Given the description of an element on the screen output the (x, y) to click on. 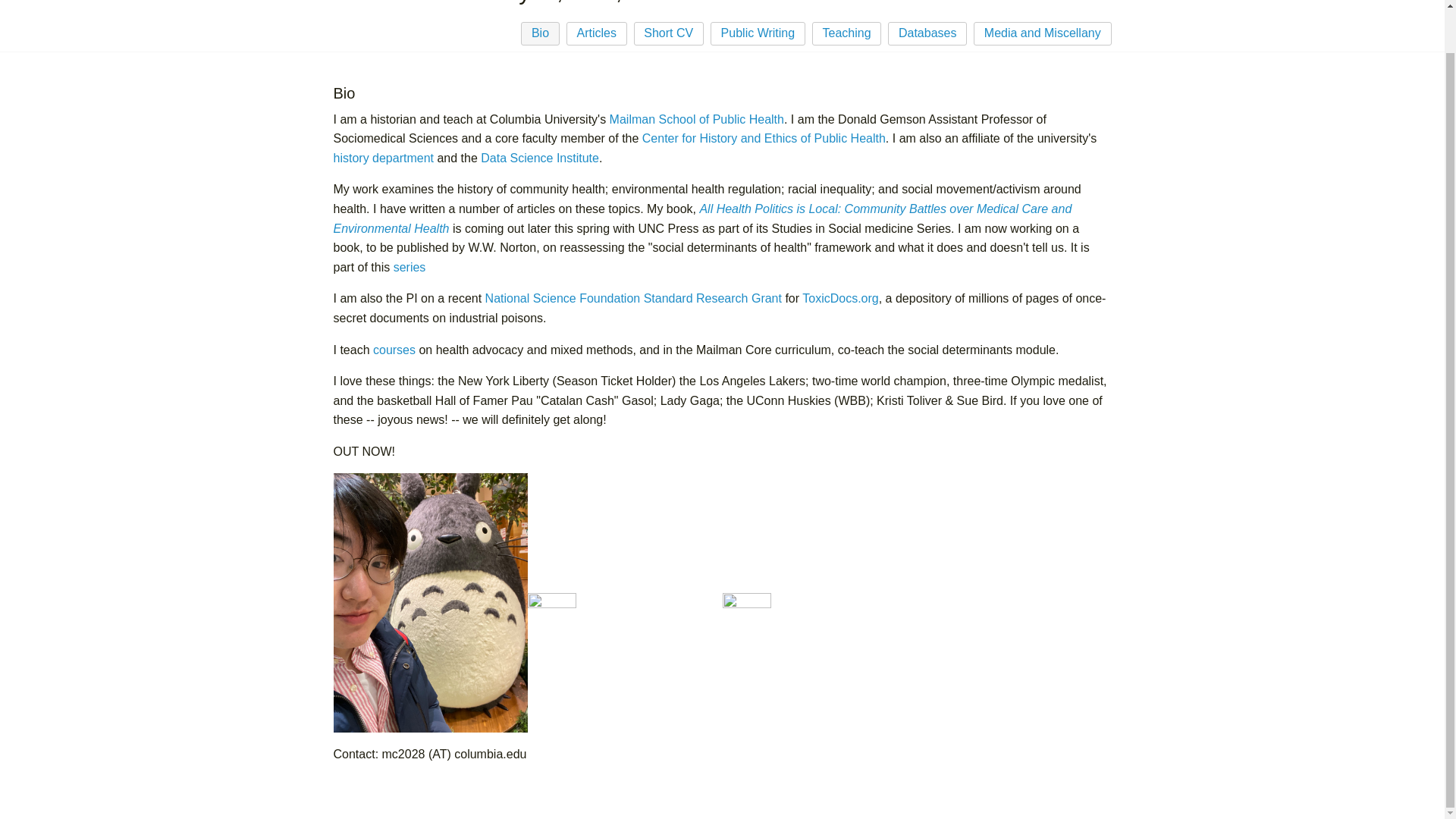
Teaching (847, 33)
Short CV (668, 33)
series (409, 267)
Bio (540, 33)
Databases (927, 33)
Data Science Institute (539, 157)
history department (383, 157)
ToxicDocs.org (839, 297)
Public Writing (757, 33)
Media and Miscellany (1042, 33)
